Given the description of an element on the screen output the (x, y) to click on. 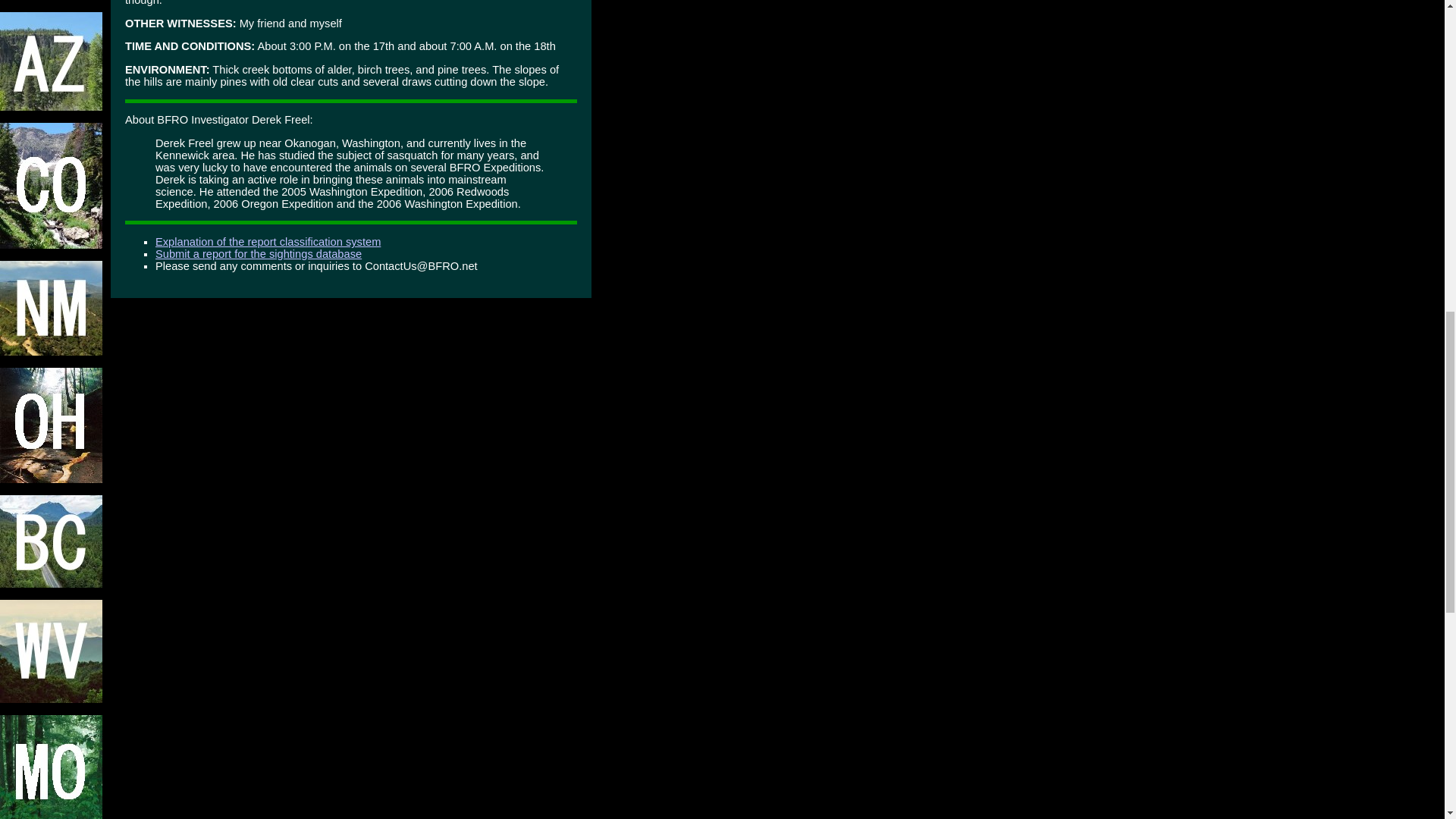
Explanation of the report classification system (267, 241)
Submit a report for the sightings database (258, 254)
